Given the description of an element on the screen output the (x, y) to click on. 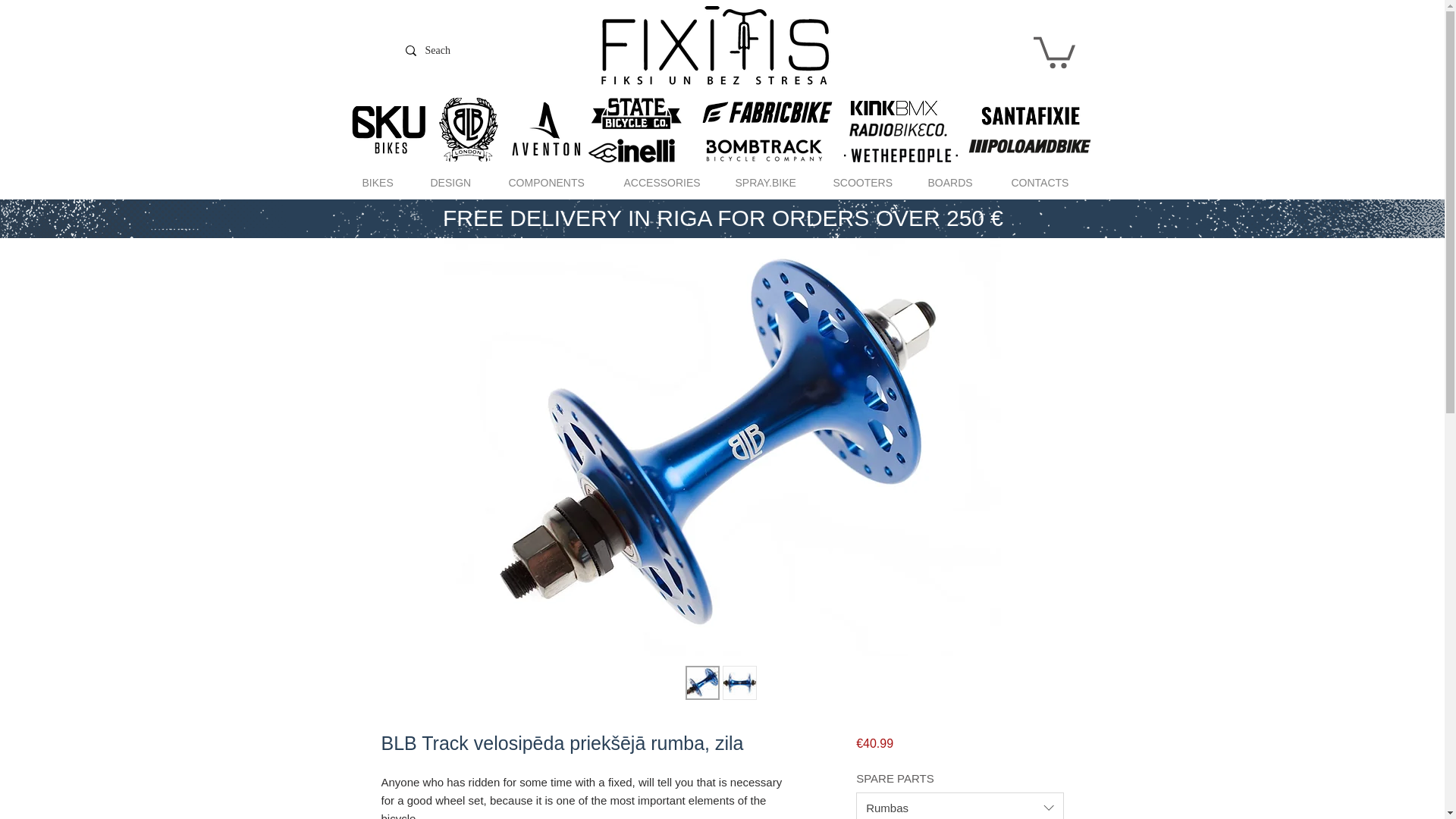
DESIGN (457, 182)
COMPONENTS (554, 182)
BIKES (384, 182)
